Given the description of an element on the screen output the (x, y) to click on. 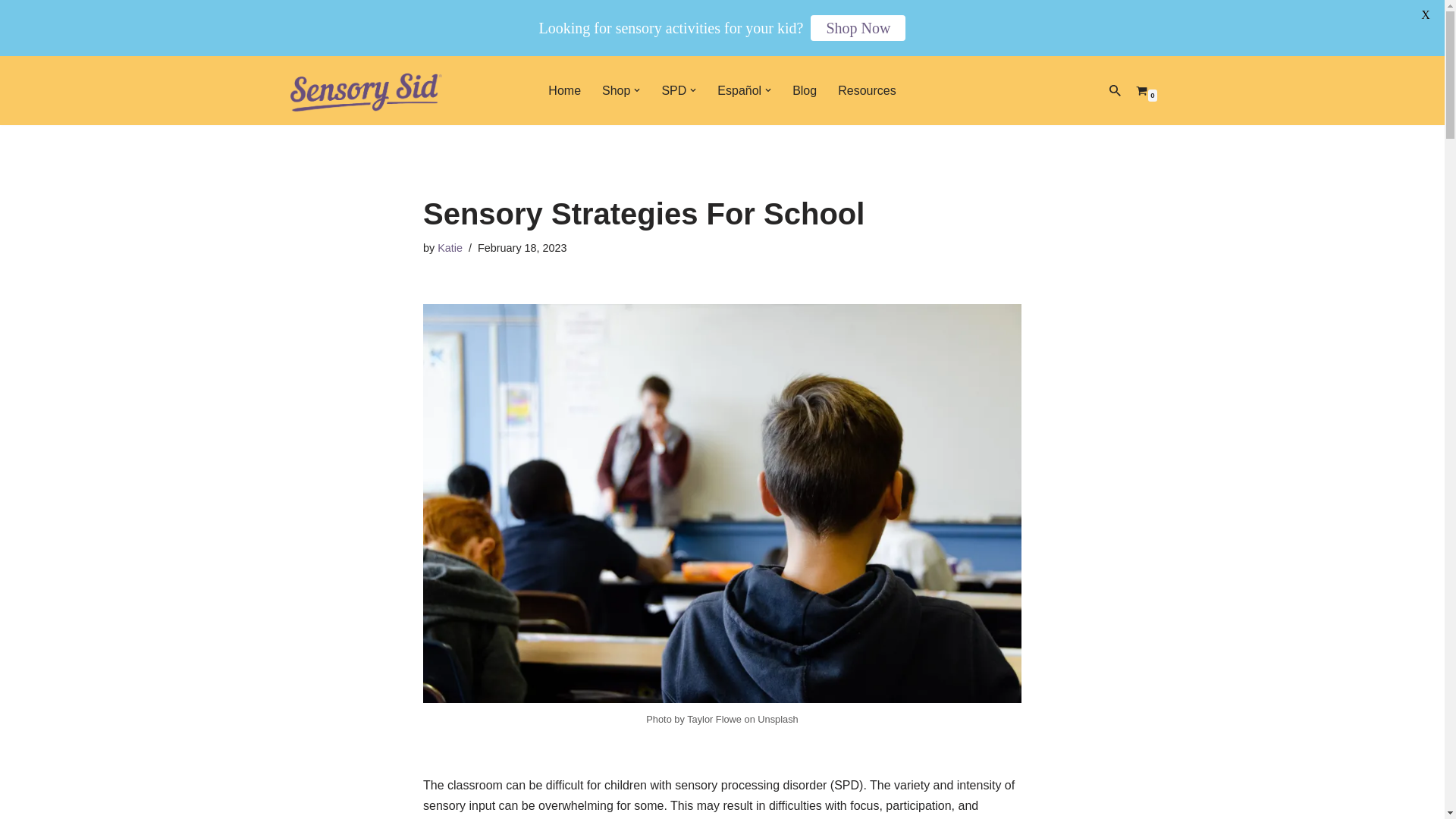
Resources (866, 90)
Home (564, 90)
Posts by Katie (450, 247)
Skip to content (11, 87)
Blog (804, 90)
SPD (673, 90)
0 (1141, 90)
Shop (616, 90)
